Given the description of an element on the screen output the (x, y) to click on. 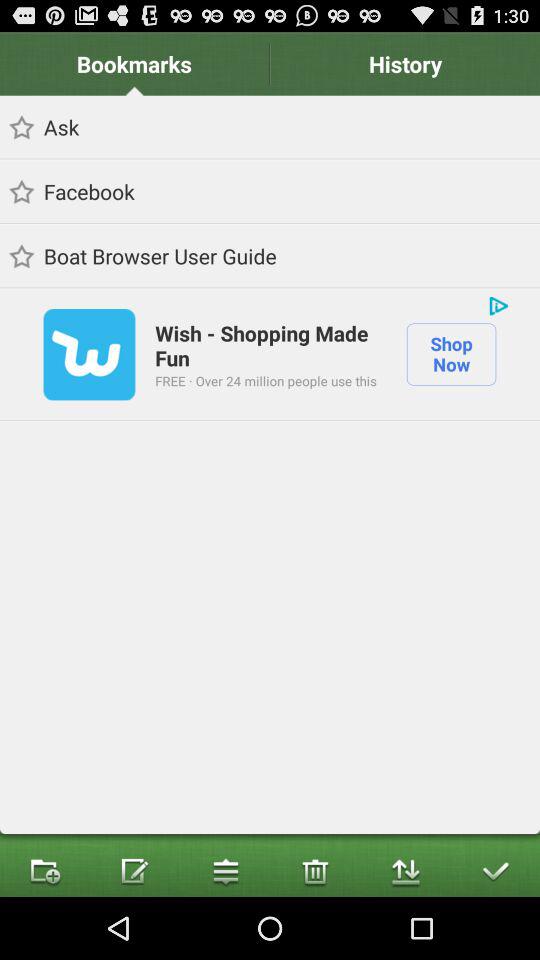
press the item next to the wish shopping made (498, 305)
